Given the description of an element on the screen output the (x, y) to click on. 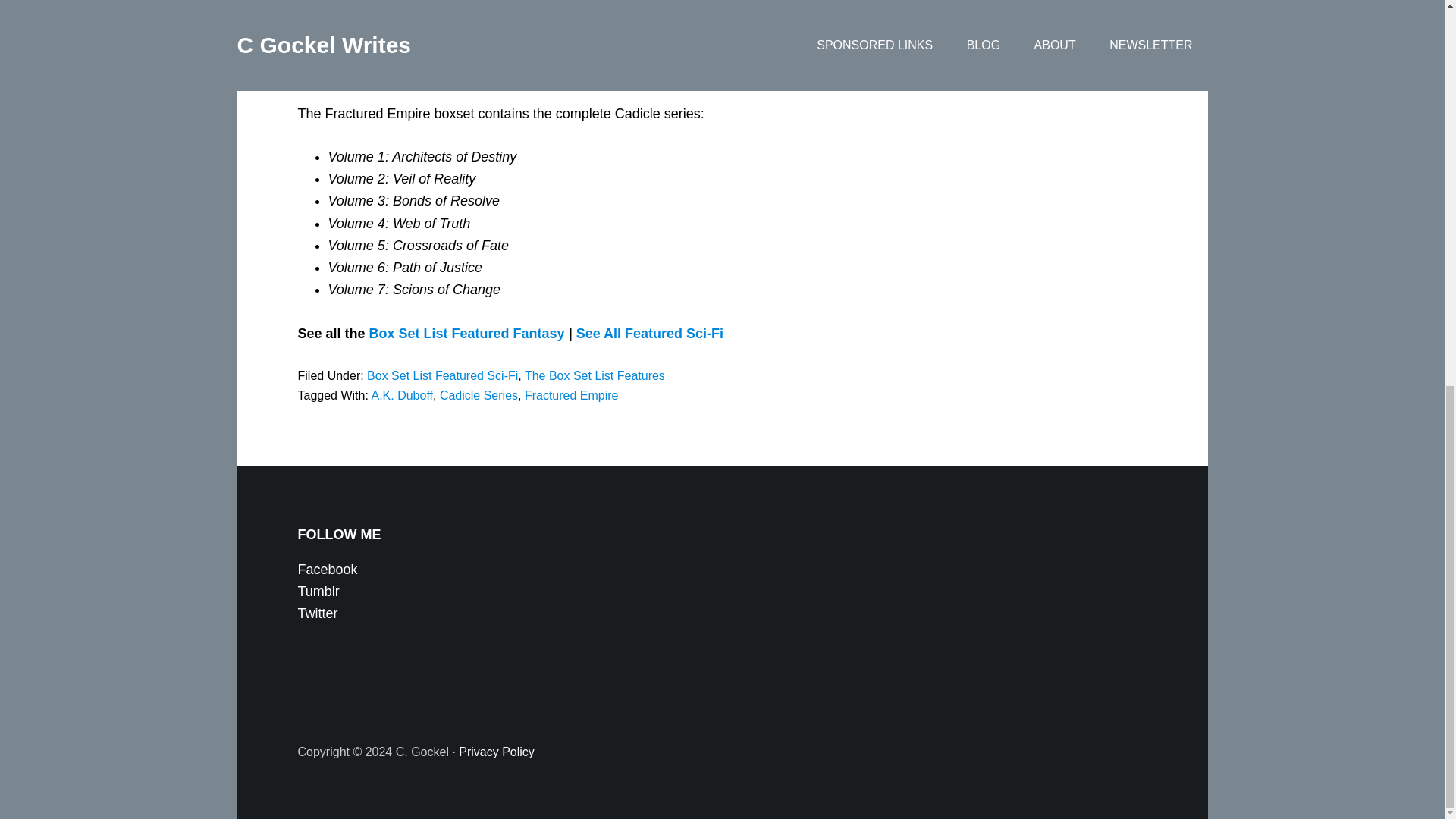
A.K. Duboff (401, 395)
Privacy Policy (496, 751)
Twitter (317, 613)
Cadicle Series (478, 395)
Tumblr (318, 590)
See All Featured Sci-Fi (649, 333)
Box Set List Featured Fantasy (466, 333)
Facebook (326, 569)
Box Set List Featured Sci-Fi (442, 375)
The Box Set List Features (594, 375)
